Given the description of an element on the screen output the (x, y) to click on. 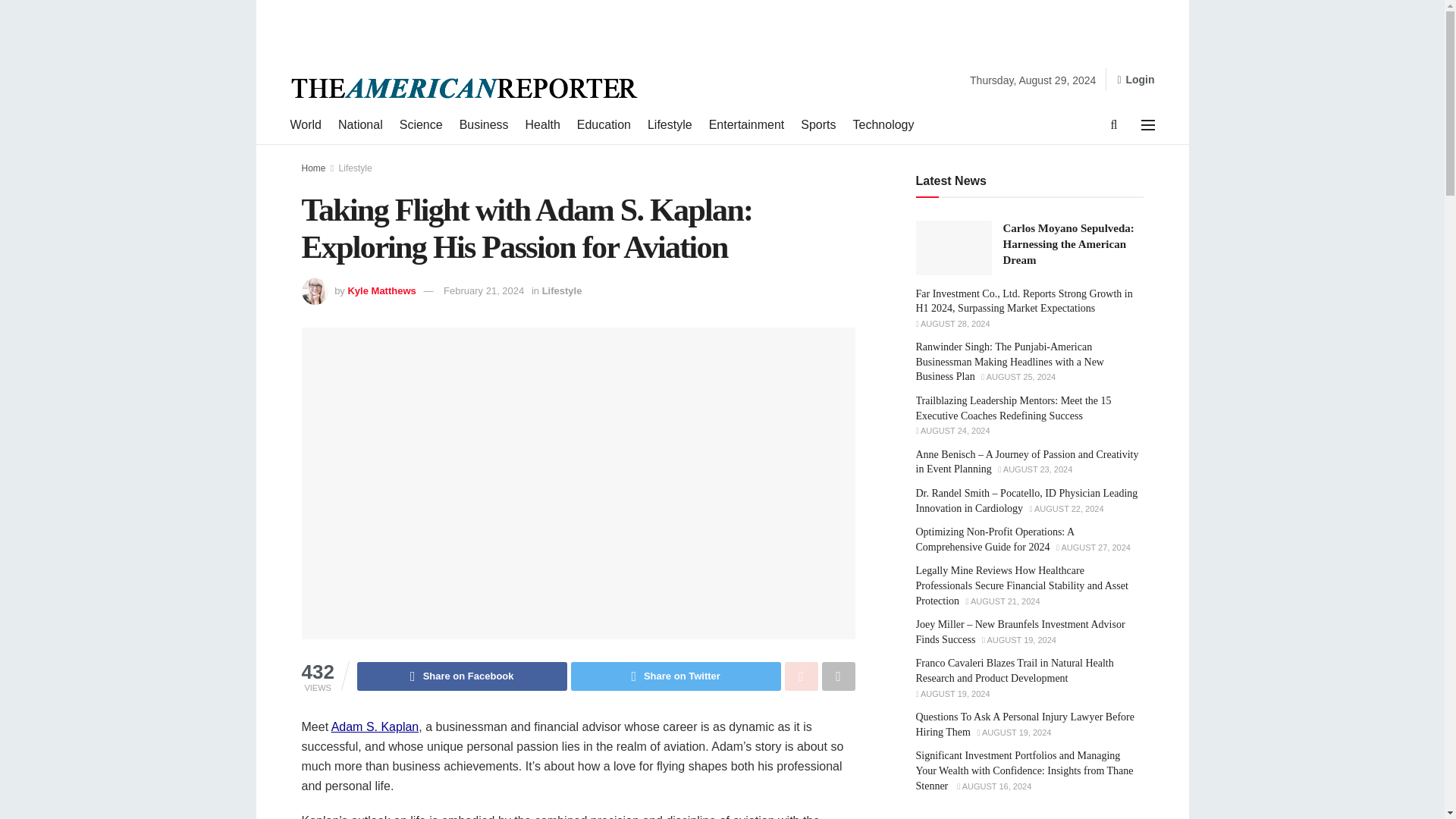
Kyle Matthews (380, 290)
Share on Twitter (675, 676)
Home (313, 167)
Technology (883, 124)
National (359, 124)
February 21, 2024 (484, 290)
Education (603, 124)
Science (420, 124)
World (305, 124)
Share on Facebook (461, 676)
